Given the description of an element on the screen output the (x, y) to click on. 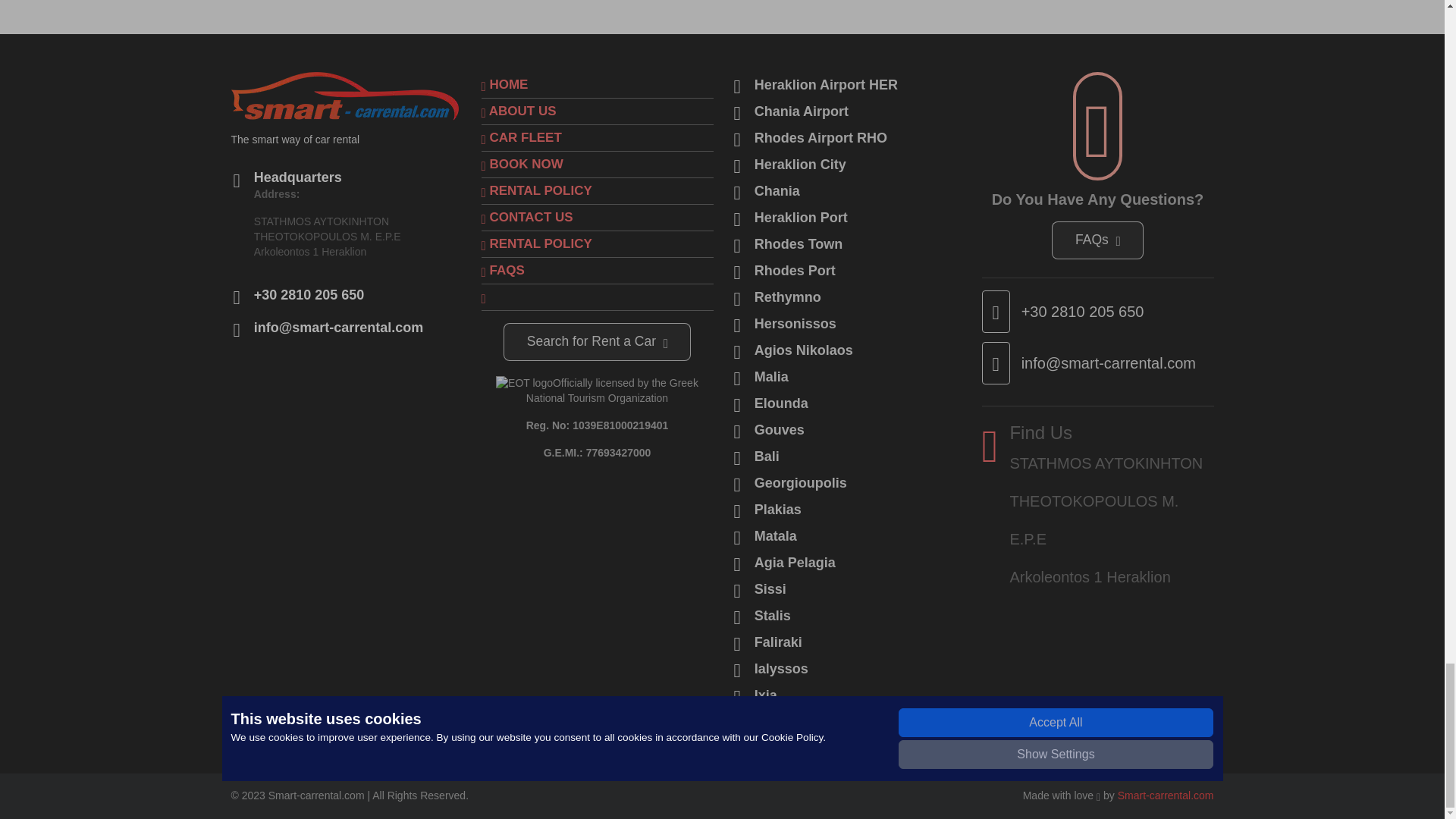
Smart Car Rental (1166, 795)
Authorized by Greek Ministry of Tourism (524, 383)
